Given the description of an element on the screen output the (x, y) to click on. 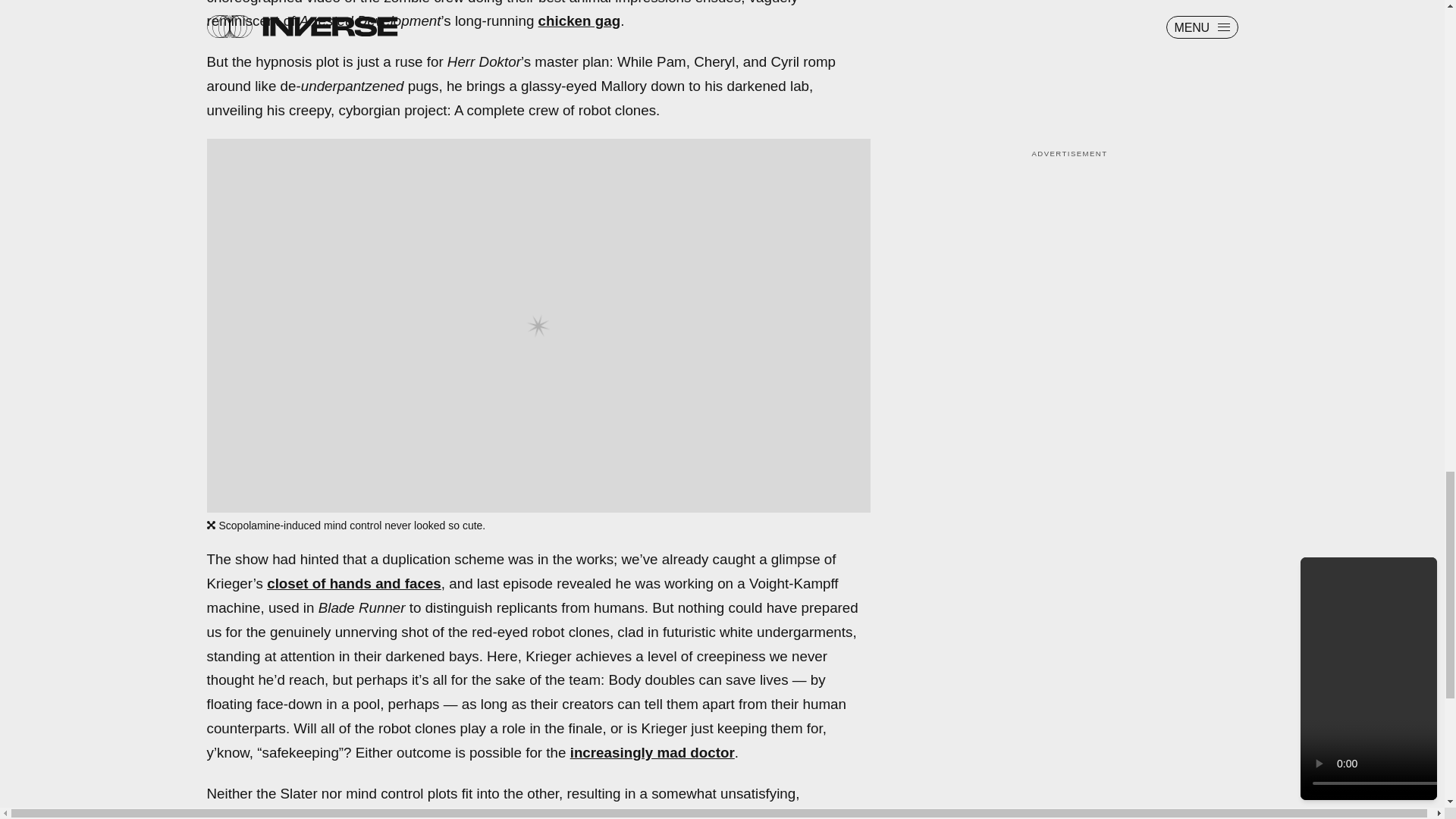
closet of hands and faces (353, 583)
chicken gag (579, 20)
increasingly mad doctor (652, 752)
